Given the description of an element on the screen output the (x, y) to click on. 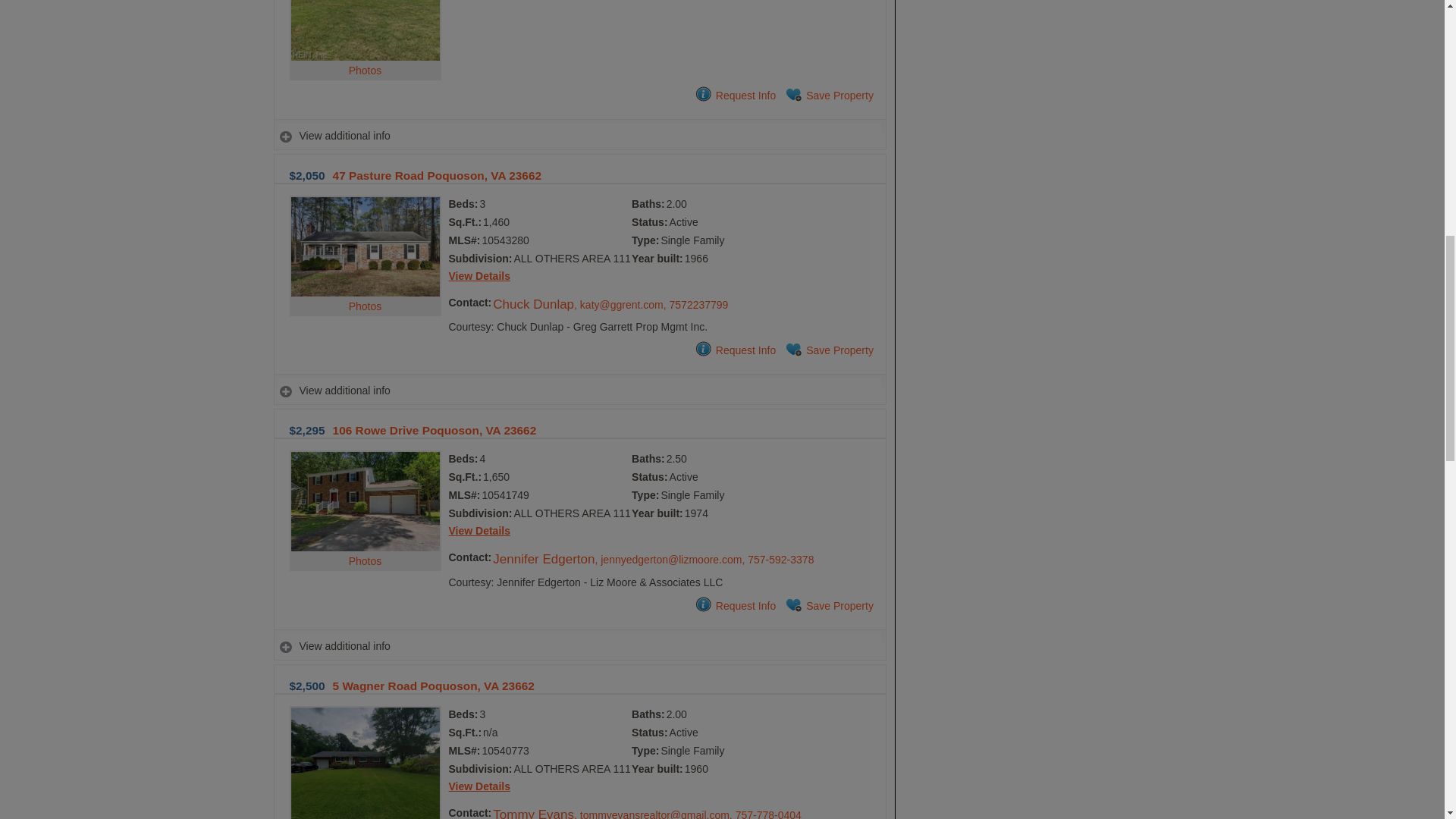
View property remarks and map (580, 135)
View property remarks and map (580, 390)
View property remarks and map (580, 645)
